Given the description of an element on the screen output the (x, y) to click on. 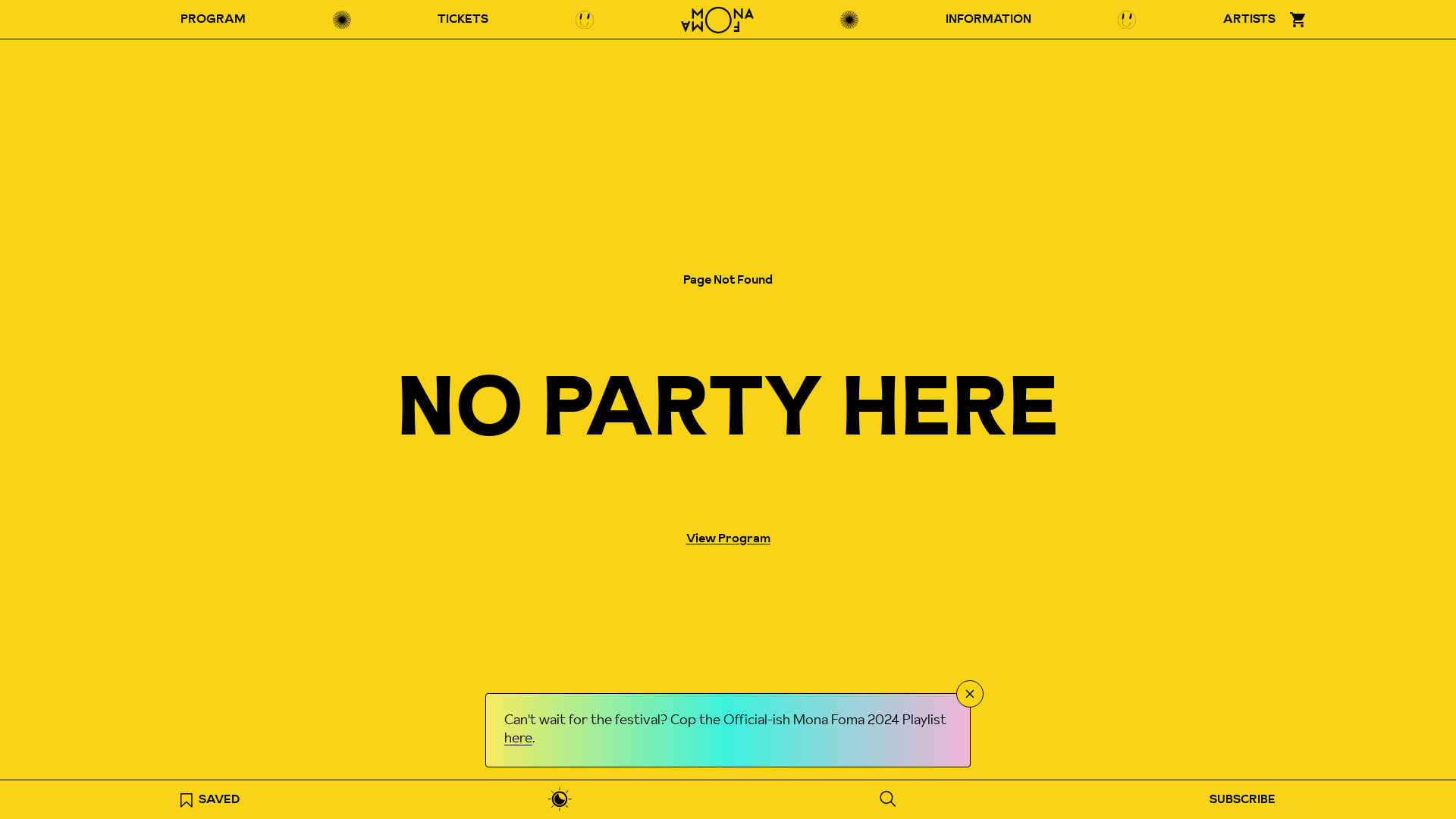
INFORMATION Element type: text (988, 19)
here Element type: text (518, 739)
SUBSCRIBE Element type: text (1242, 799)
SAVED Element type: text (209, 799)
TICKETS Element type: text (462, 19)
Search Element type: hover (887, 798)
View Program Element type: text (727, 538)
PROGRAM Element type: text (212, 19)
Mona Foma Element type: hover (716, 19)
ARTISTS Element type: text (1249, 19)
